Given the description of an element on the screen output the (x, y) to click on. 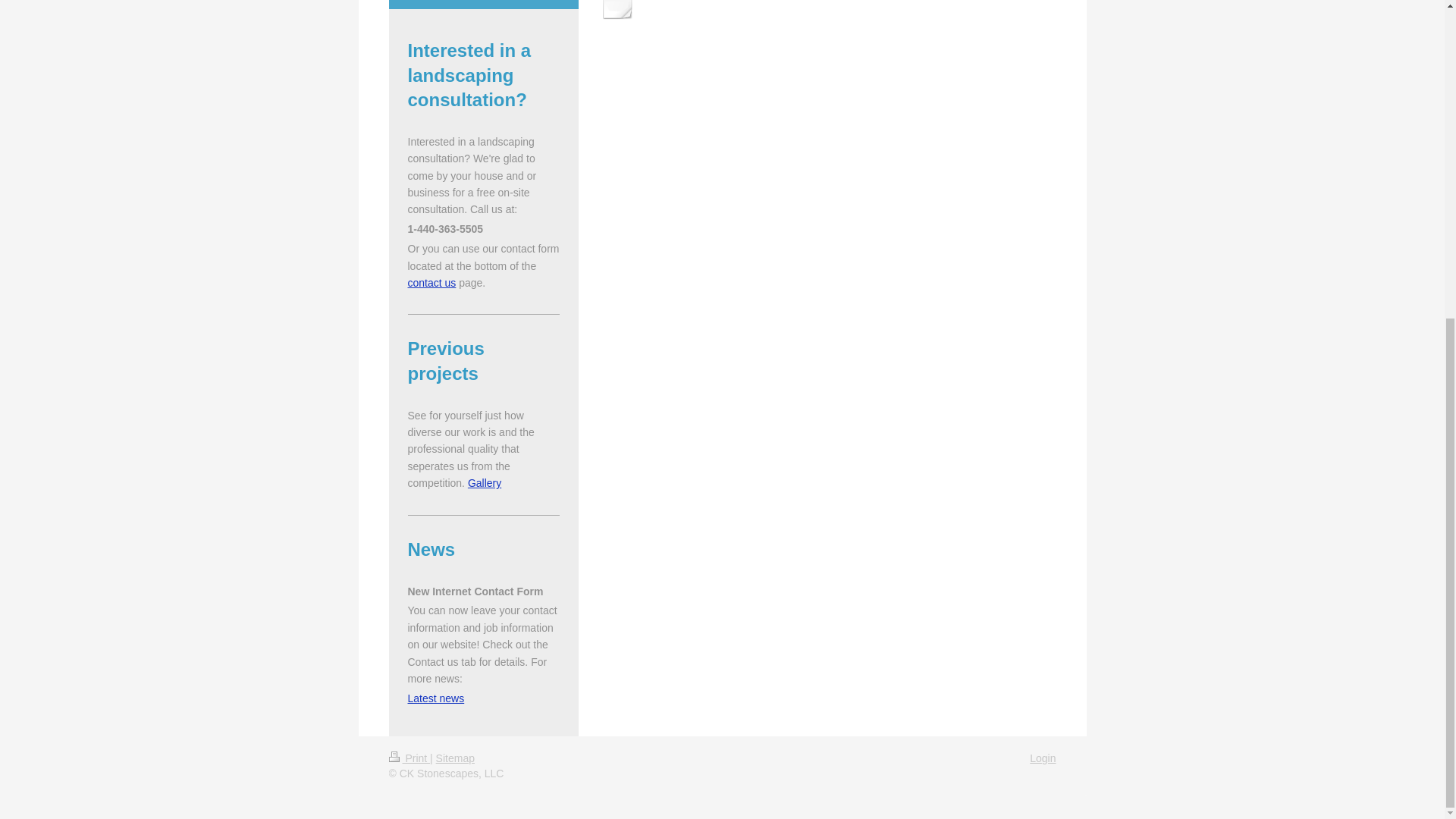
Login (1042, 758)
contact us (432, 282)
Latest news (435, 698)
Print (408, 758)
Gallery (483, 482)
Sitemap (454, 758)
